Given the description of an element on the screen output the (x, y) to click on. 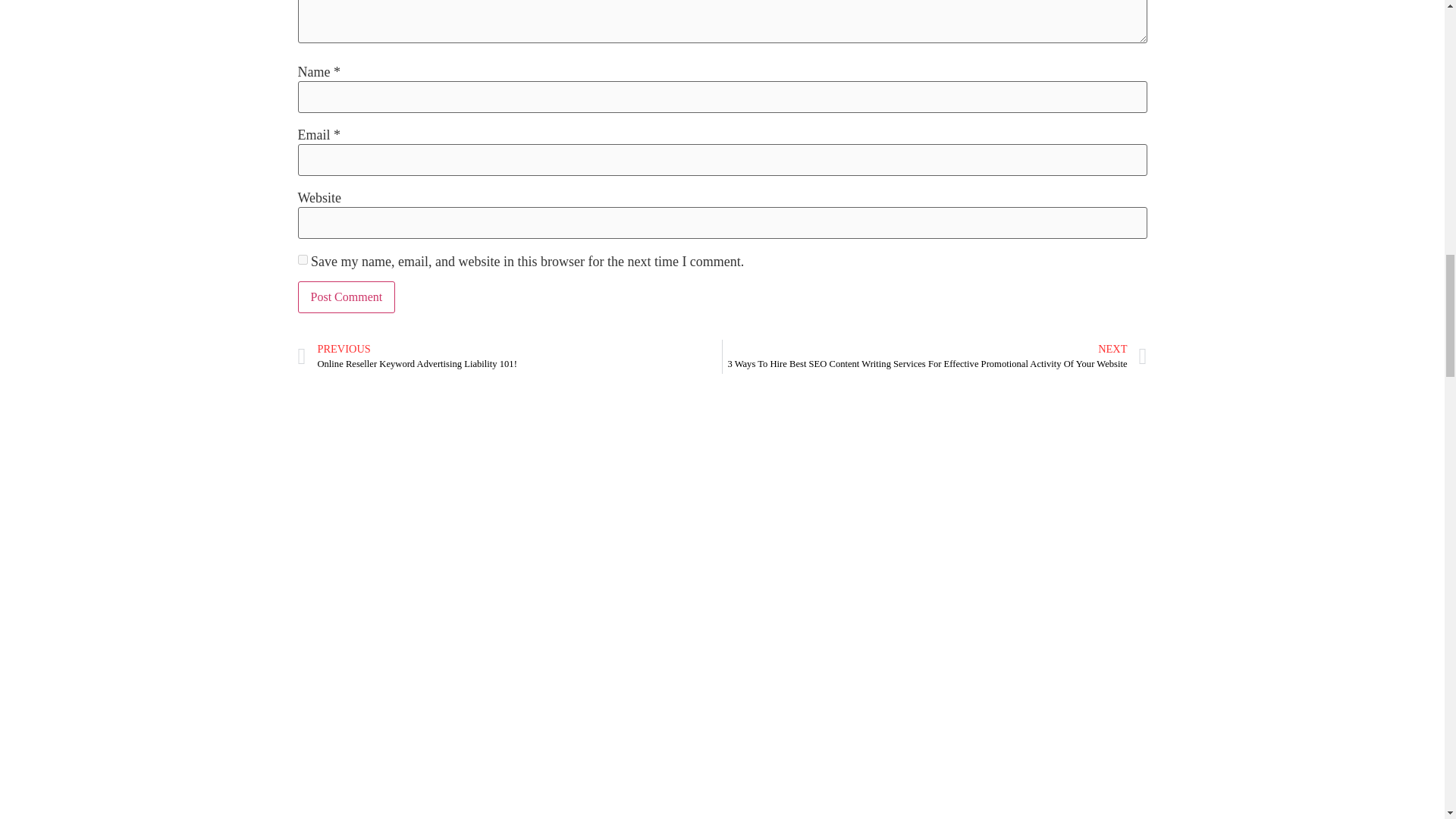
yes (302, 259)
Post Comment (345, 296)
